Given the description of an element on the screen output the (x, y) to click on. 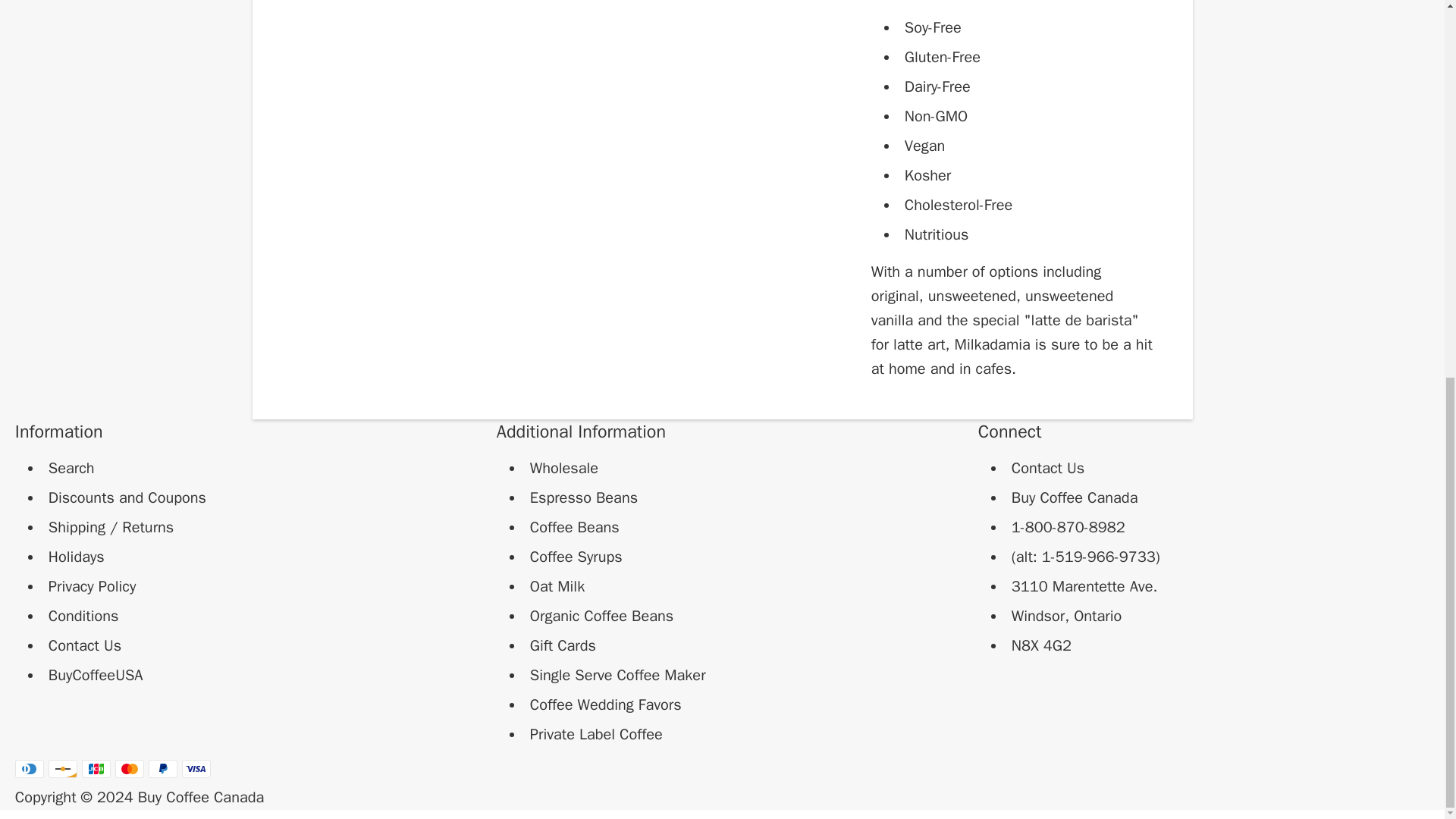
JCB (95, 769)
Diners Club (28, 769)
Visa (196, 769)
Discover (62, 769)
PayPal (162, 769)
Mastercard (129, 769)
